Given the description of an element on the screen output the (x, y) to click on. 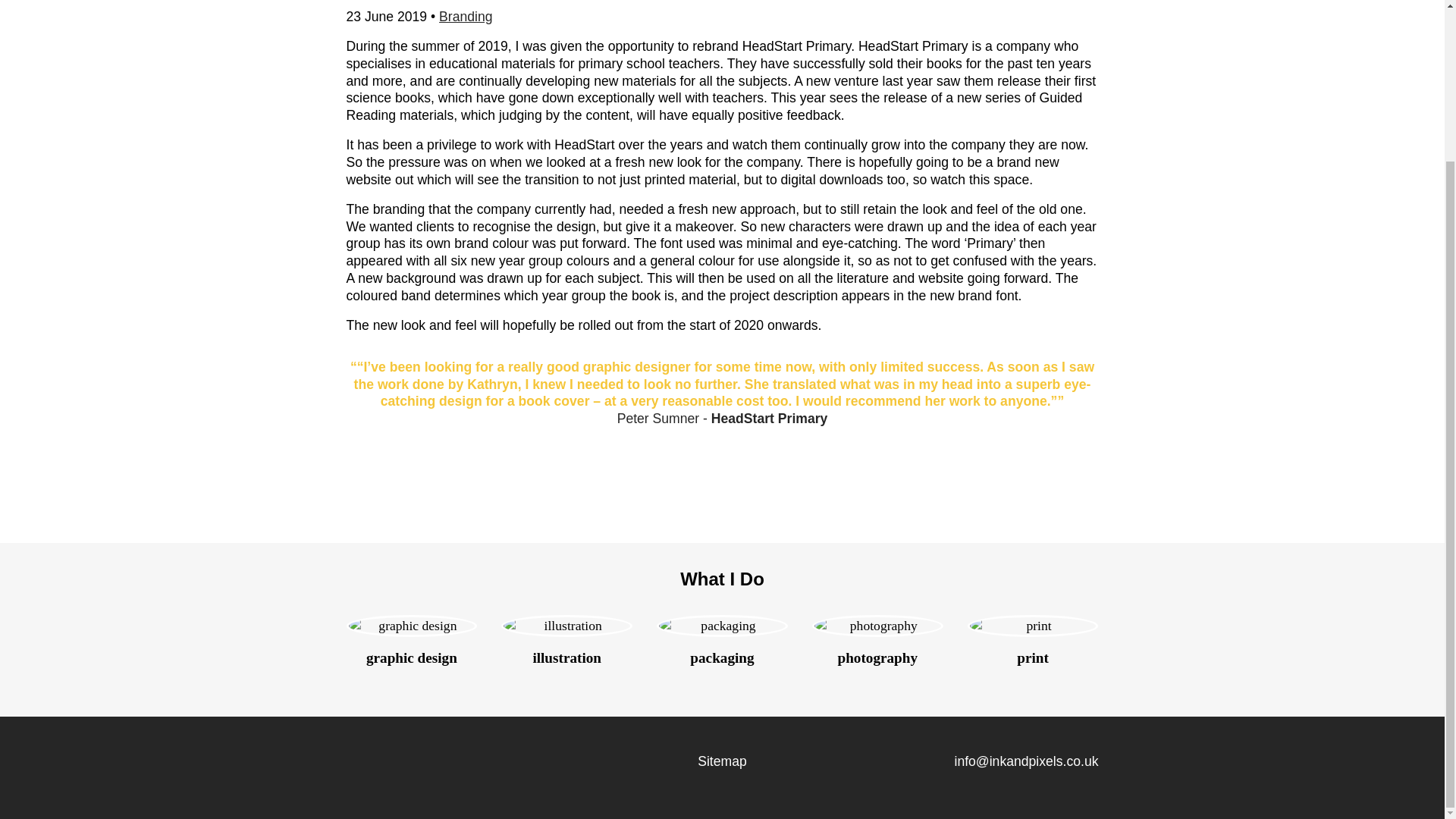
Sitemap (721, 761)
Branding (465, 16)
